Given the description of an element on the screen output the (x, y) to click on. 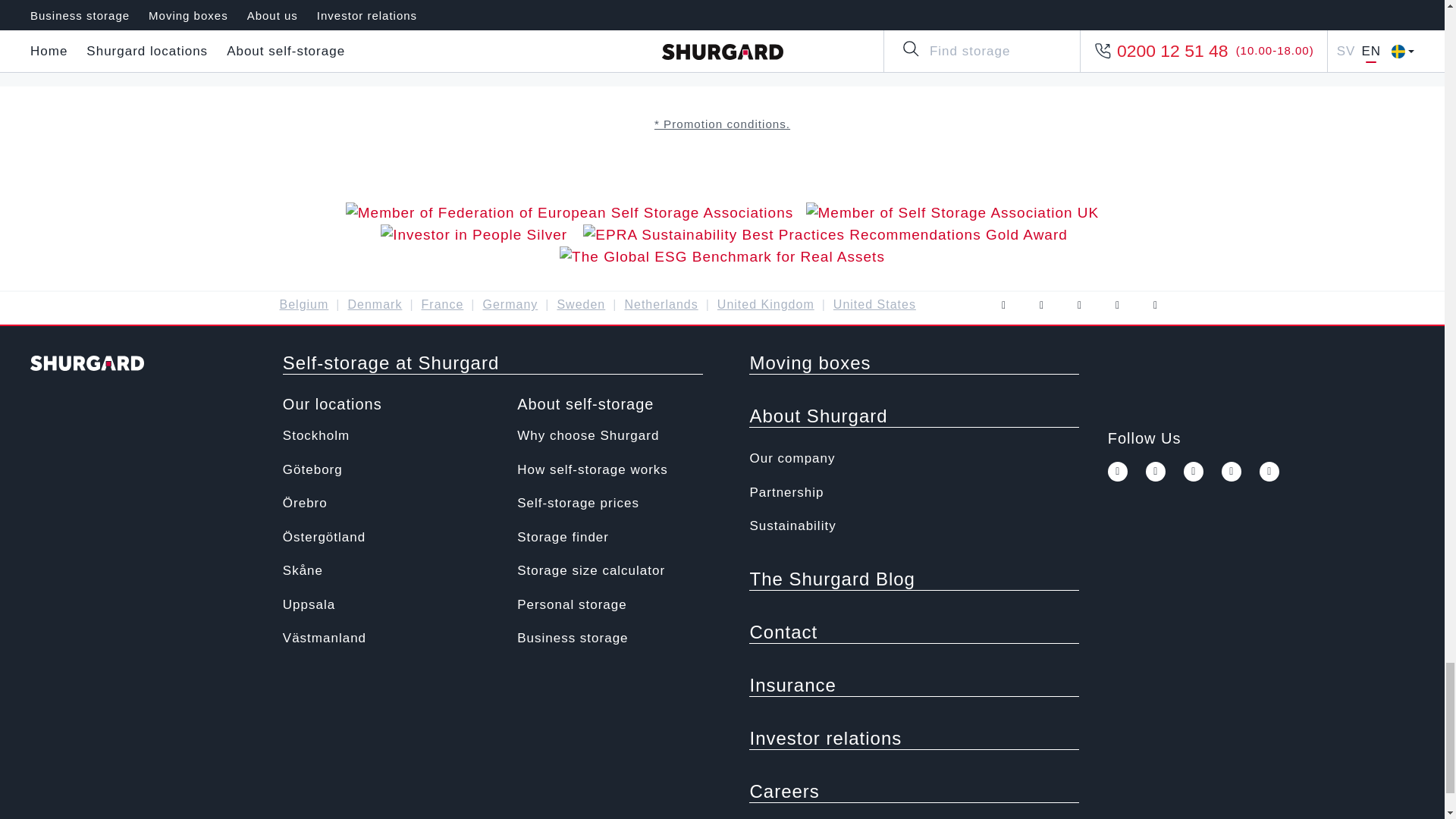
facebook (1002, 305)
youtube (1078, 305)
pinterest (1116, 305)
twitter (1040, 305)
facebook (1117, 471)
linkedin (1154, 305)
linkedin (1269, 471)
youtube (1193, 471)
twitter (1155, 471)
pinterest (1231, 471)
